Given the description of an element on the screen output the (x, y) to click on. 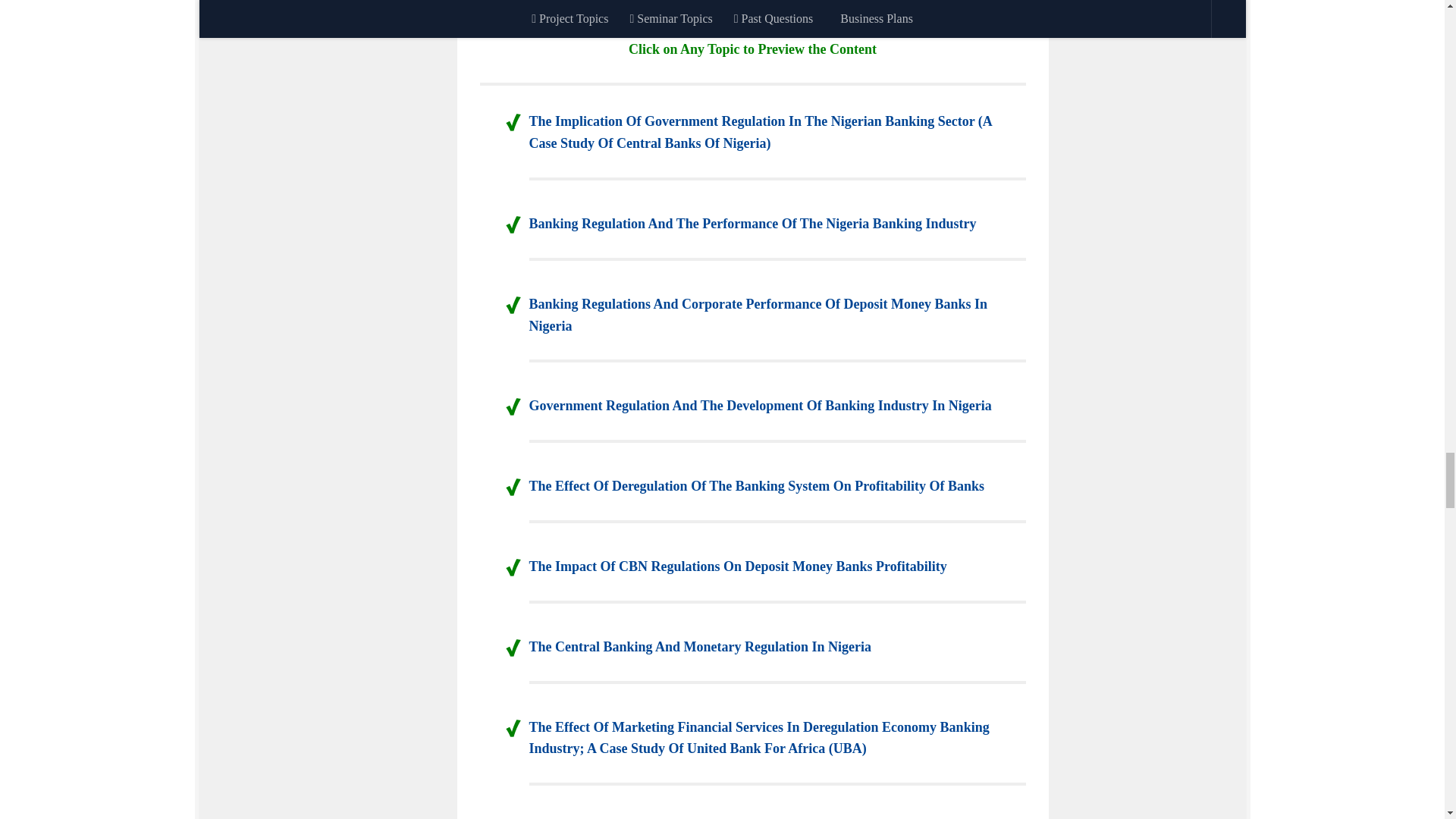
The Central Banking And Monetary Regulation In Nigeria (700, 646)
The Central Banking And Monetary Regulation In Nigeria (700, 646)
